Given the description of an element on the screen output the (x, y) to click on. 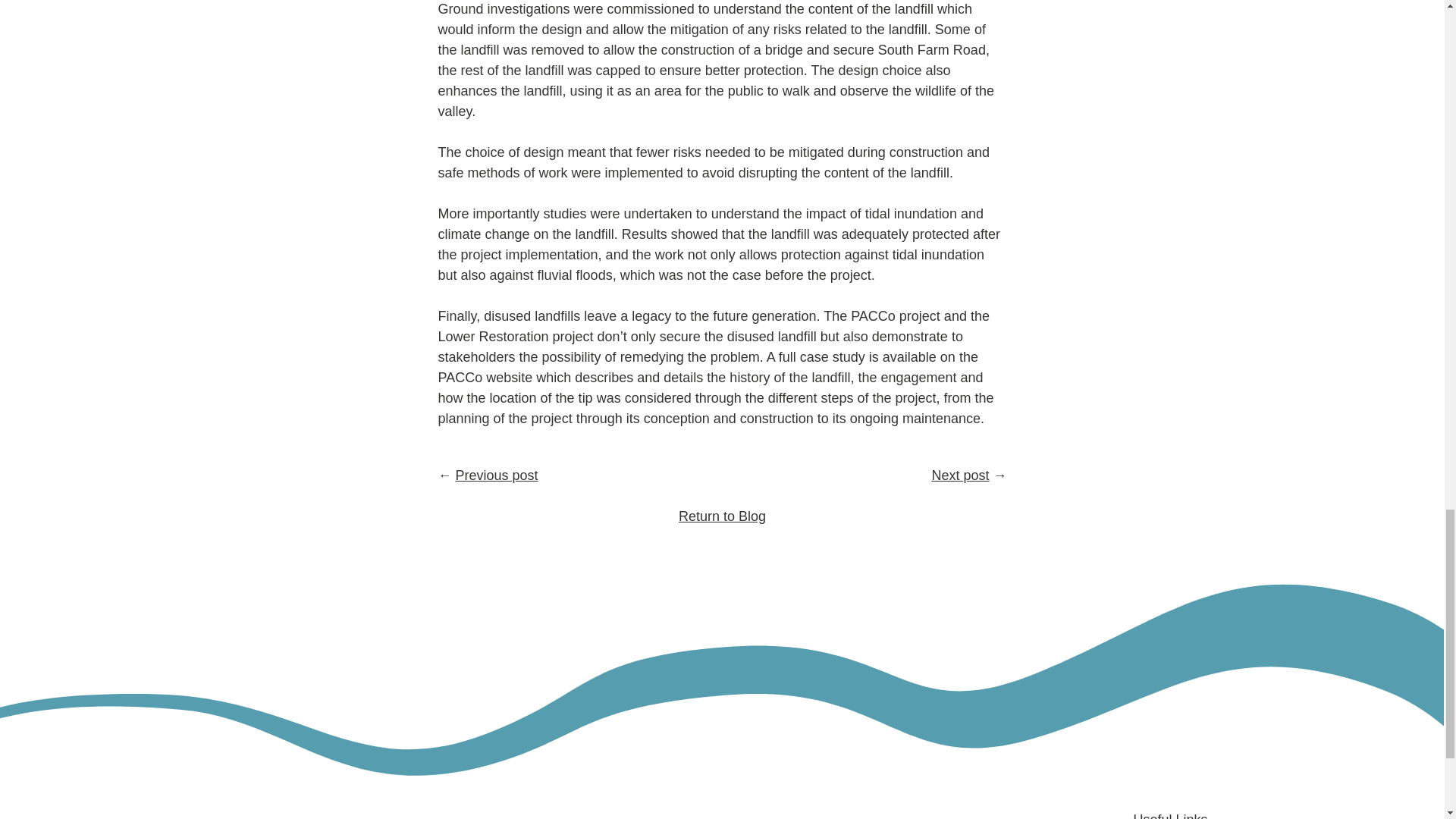
Previous post (496, 475)
Return to Blog (721, 516)
Next post (959, 475)
Useful Links (1169, 815)
